Given the description of an element on the screen output the (x, y) to click on. 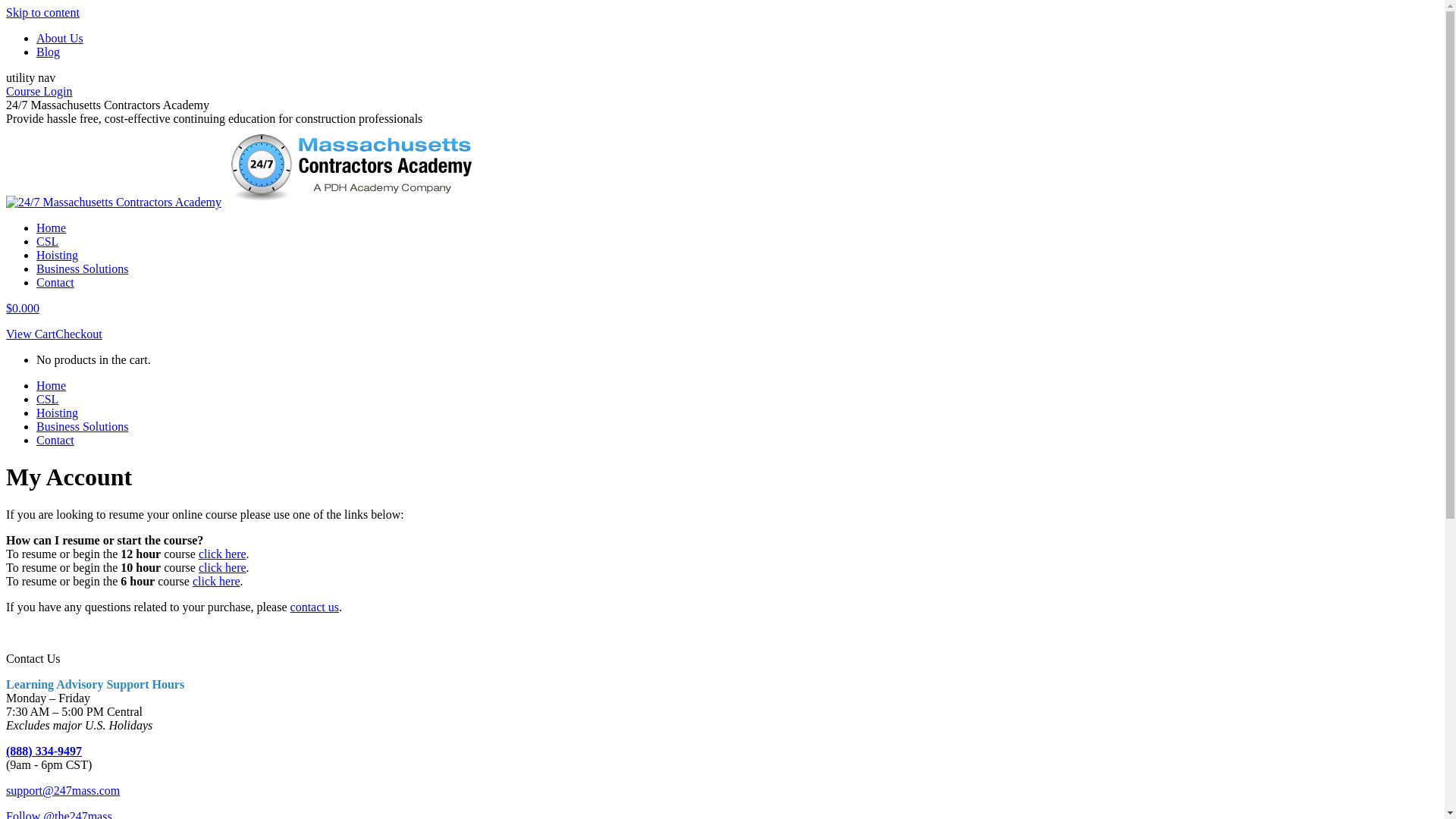
Home Element type: text (50, 227)
click here Element type: text (222, 553)
(888) 334-9497 Element type: text (43, 750)
Hoisting Element type: text (57, 412)
Course Login Element type: text (39, 90)
$0.000 Element type: text (22, 307)
Home Element type: text (50, 385)
click here Element type: text (222, 567)
Contact Element type: text (55, 282)
Business Solutions Element type: text (82, 426)
Blog Element type: text (47, 51)
Business Solutions Element type: text (82, 268)
About Us Element type: text (59, 37)
Contact Element type: text (55, 439)
CSL Element type: text (47, 241)
click here Element type: text (216, 580)
View Cart Element type: text (30, 333)
CSL Element type: text (47, 398)
Skip to content Element type: text (42, 12)
Checkout Element type: text (78, 333)
Hoisting Element type: text (57, 254)
support@247mass.com Element type: text (62, 790)
contact us Element type: text (314, 606)
